Given the description of an element on the screen output the (x, y) to click on. 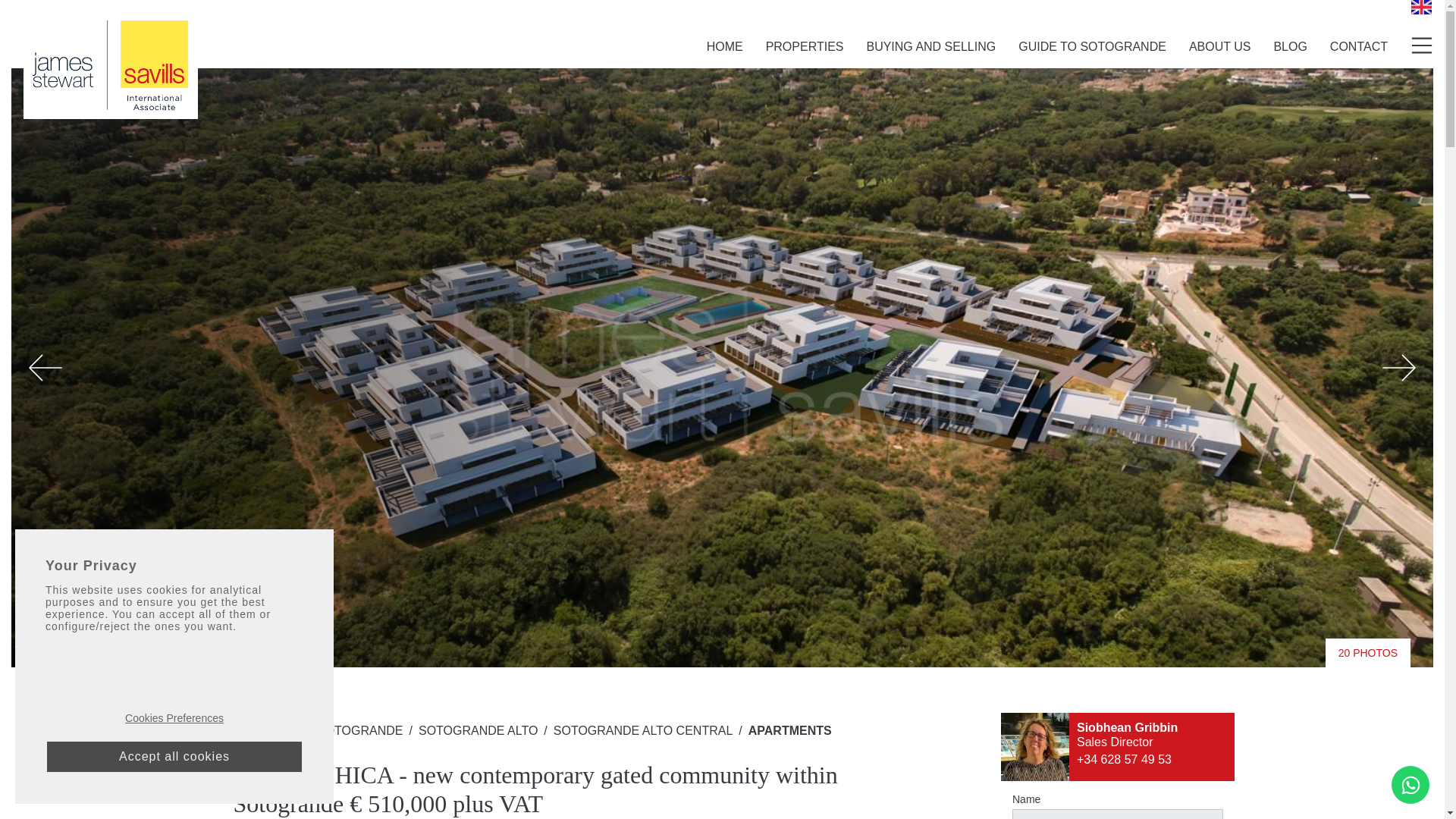
GUIDE TO SOTOGRANDE (1092, 46)
Properties for sale in Sotogrande (360, 730)
SOTOGRANDE ALTO (478, 730)
CONTACT (1359, 46)
PROPERTIES (805, 46)
ABOUT US (1219, 46)
Next (1398, 367)
APARTMENTS (789, 730)
BUYING AND SELLING (930, 46)
Menu (1421, 45)
BLOG (1289, 46)
photos (1367, 652)
SALES (281, 730)
Properties for sale in Sotogrande (281, 730)
SOTOGRANDE (360, 730)
